Given the description of an element on the screen output the (x, y) to click on. 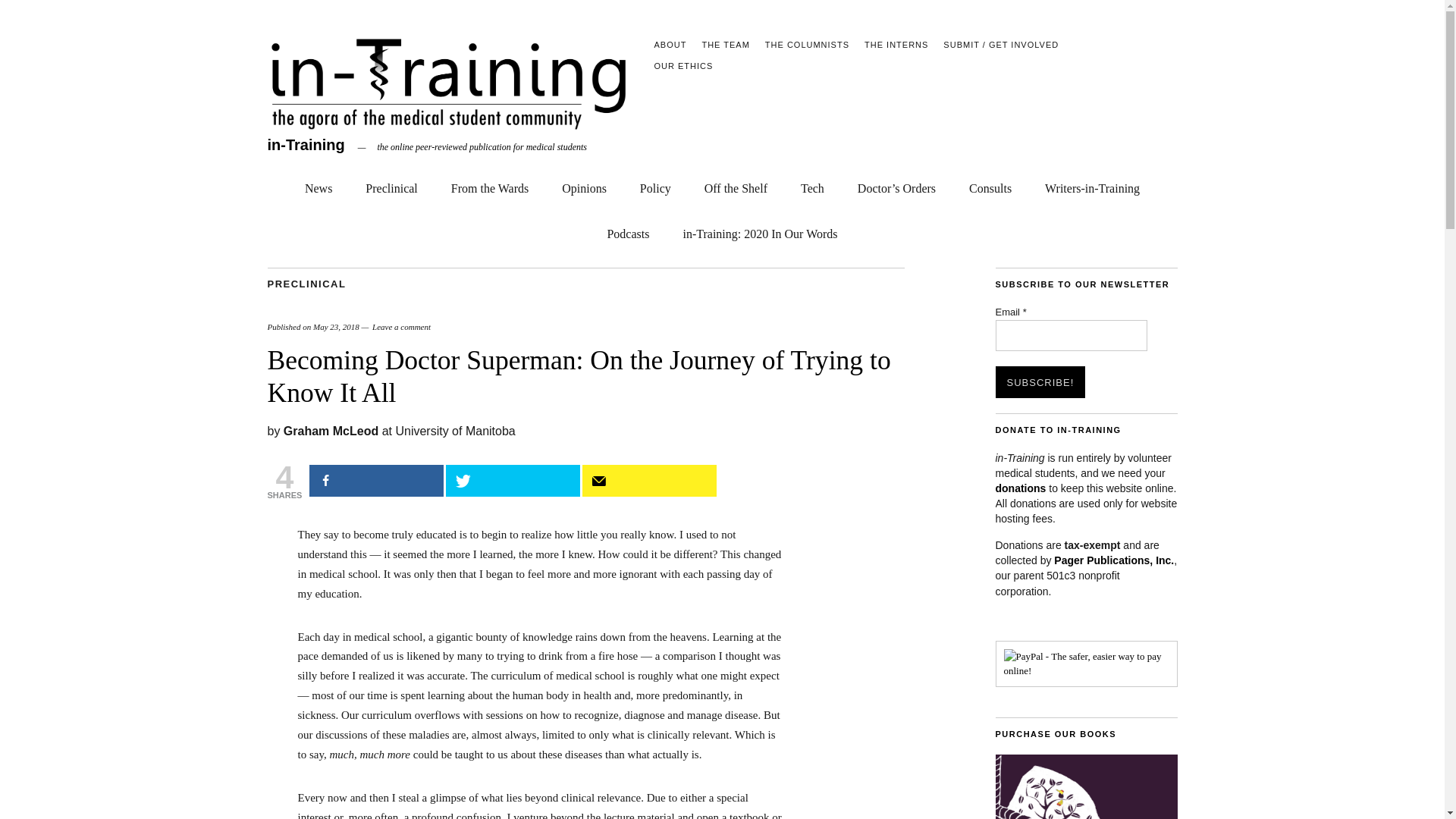
Off the Shelf (735, 185)
PRECLINICAL (306, 283)
OUR ETHICS (683, 65)
THE INTERNS (896, 44)
Email (1070, 336)
Consults (990, 185)
Writers-in-Training (1092, 185)
Policy (655, 185)
Posts by Graham McLeod (330, 431)
Graham McLeod (330, 431)
Subscribe (649, 480)
Opinions (584, 185)
ABOUT (669, 44)
Tech (812, 185)
Subscribe! (1039, 382)
